Given the description of an element on the screen output the (x, y) to click on. 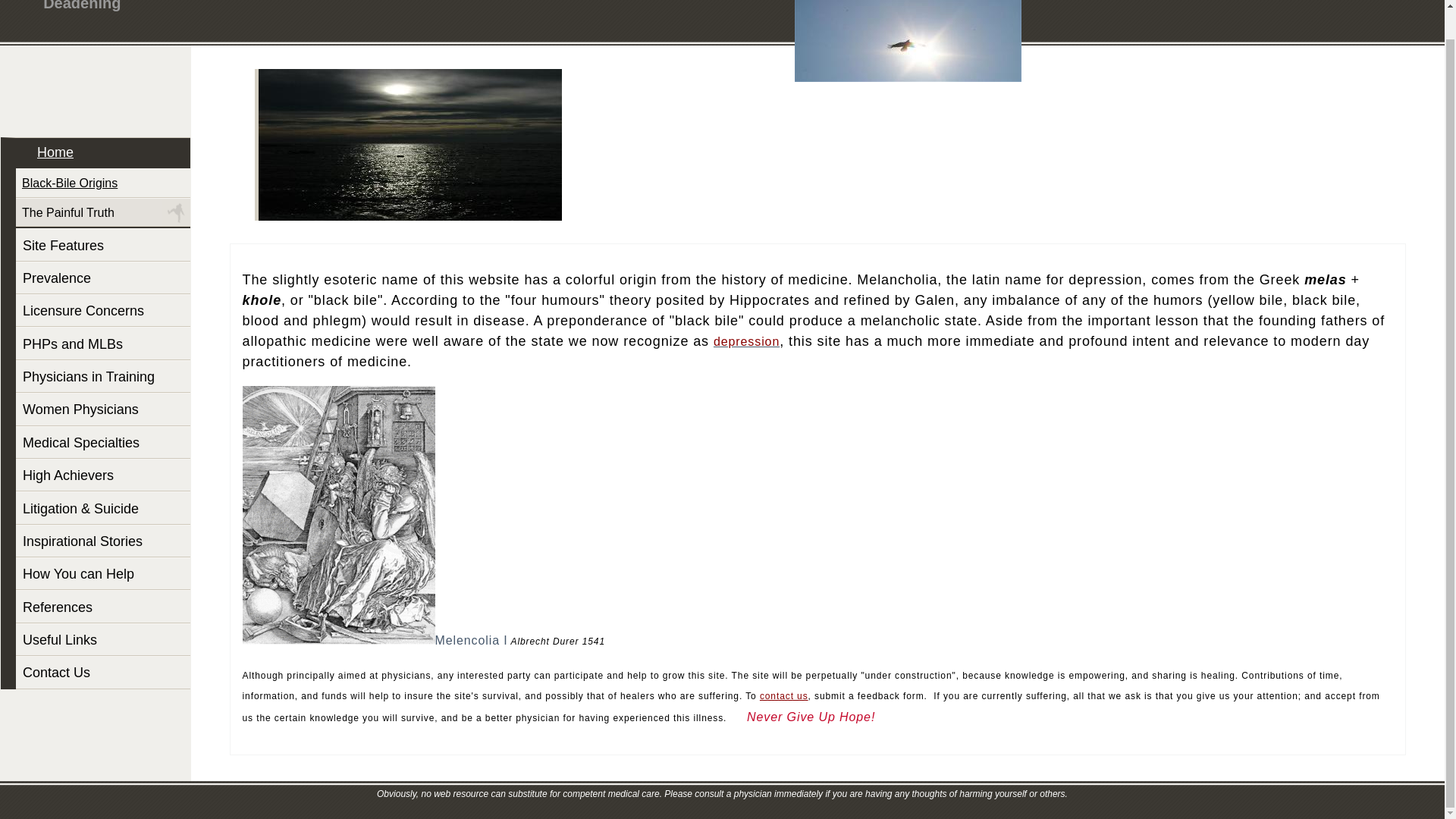
PHPs and MLBs (103, 342)
Home (103, 153)
Prevalence (103, 277)
Medical Specialties (103, 441)
High Achievers (103, 474)
Melencolia I (471, 640)
References (103, 605)
Useful Links (103, 639)
Physicians in Training (103, 376)
depression (745, 341)
Inspirational Stories (103, 540)
Women Physicians (103, 409)
contact us (784, 694)
How You can Help (103, 573)
Contact Us (103, 672)
